Given the description of an element on the screen output the (x, y) to click on. 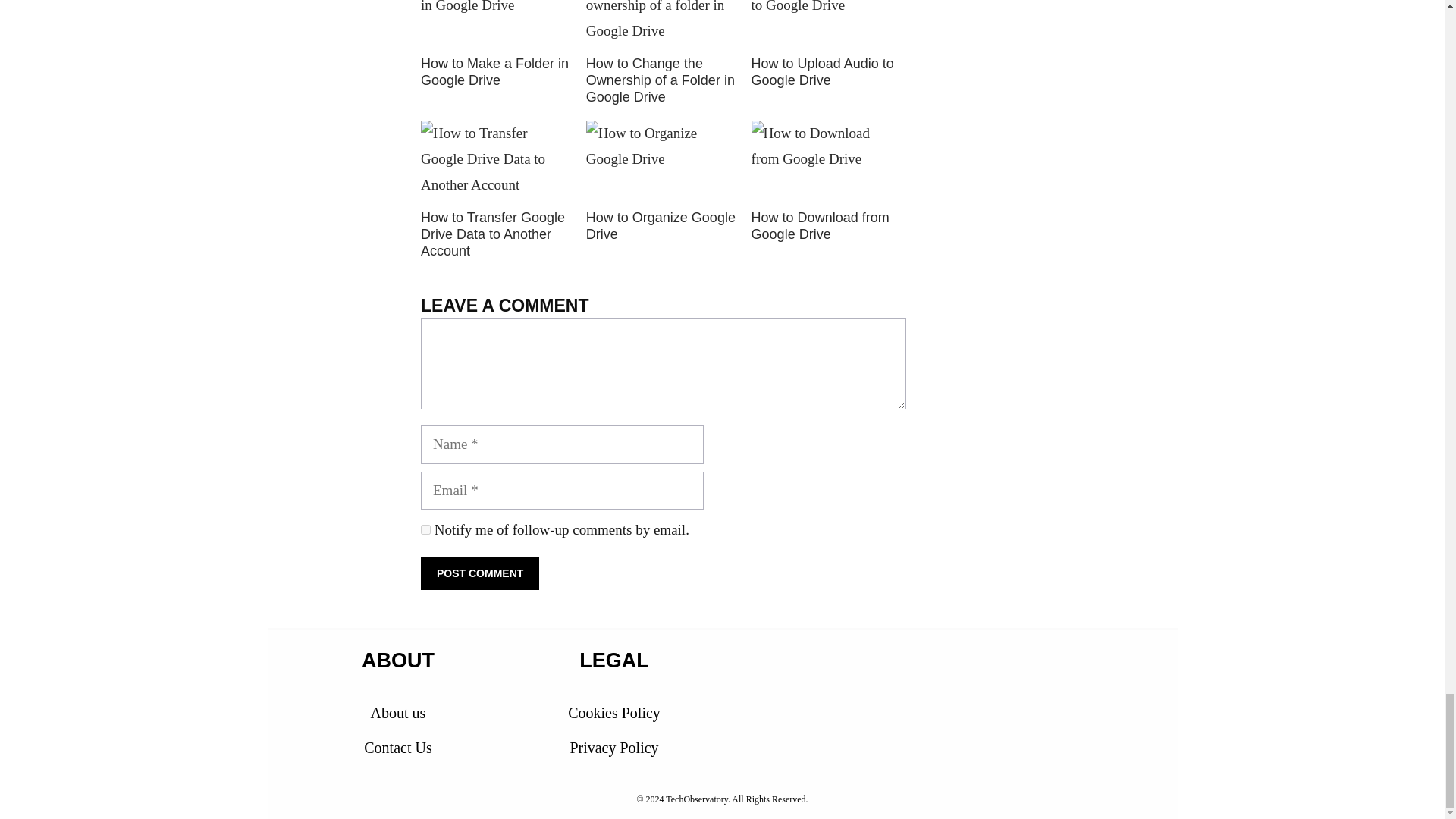
subscribe (425, 529)
How to Transfer Google Drive Data to Another Account (492, 233)
How to Upload Audio to Google Drive (826, 26)
How to Make a Folder in Google Drive (495, 26)
How to Organize Google Drive (660, 225)
How to Make a Folder in Google Drive (494, 71)
How to Change the Ownership of a Folder in Google Drive (661, 26)
How to Make a Folder in Google Drive (494, 71)
How to Upload Audio to Google Drive (822, 71)
How to Change the Ownership of a Folder in Google Drive (660, 80)
